Given the description of an element on the screen output the (x, y) to click on. 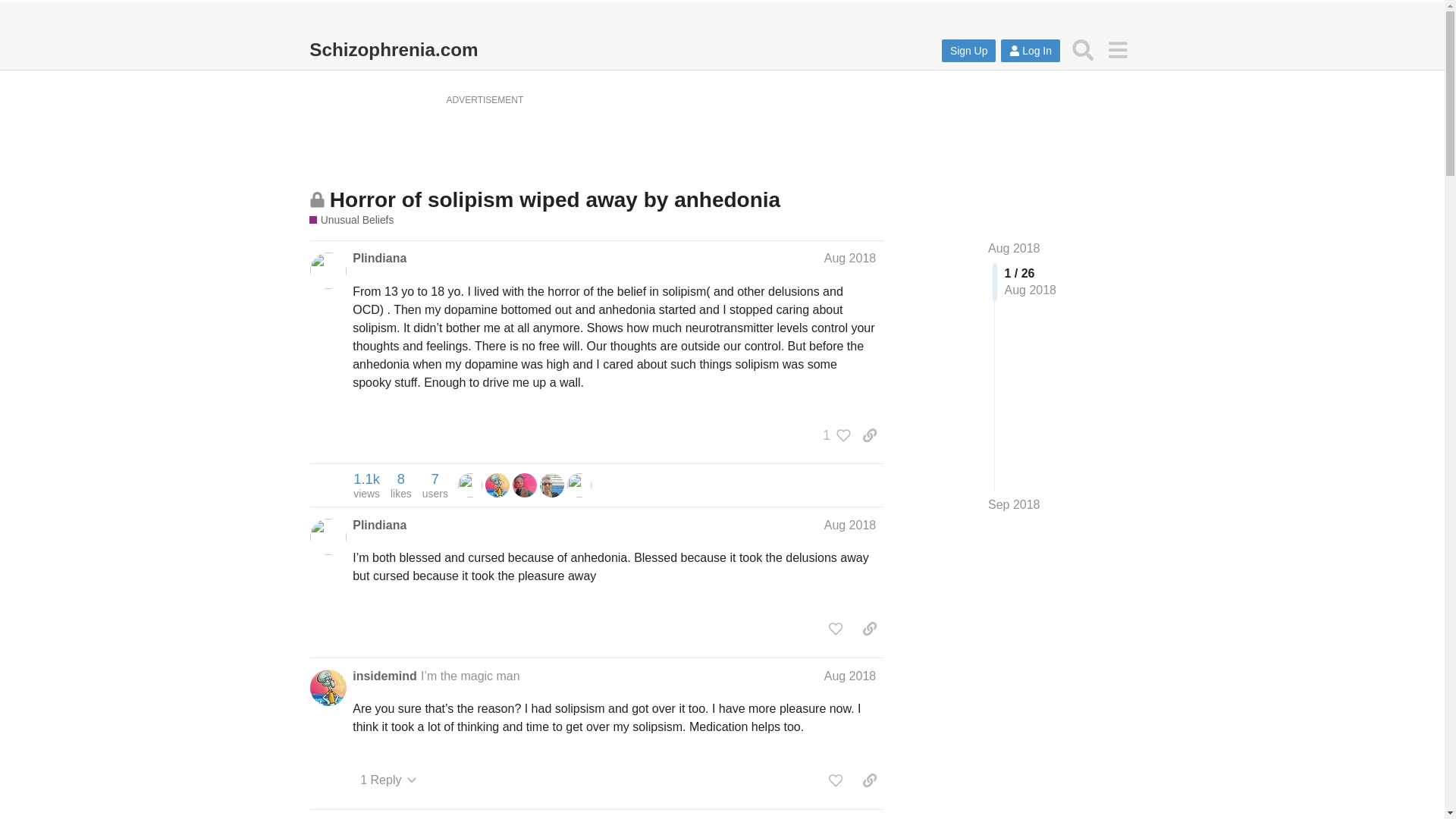
insidemind (384, 676)
Search (435, 485)
Plindiana (1082, 49)
SkinnyMe (379, 258)
Aug 2018 (552, 483)
Sign Up (850, 675)
Aug 2018 (366, 485)
1 person liked this post (968, 50)
